Given the description of an element on the screen output the (x, y) to click on. 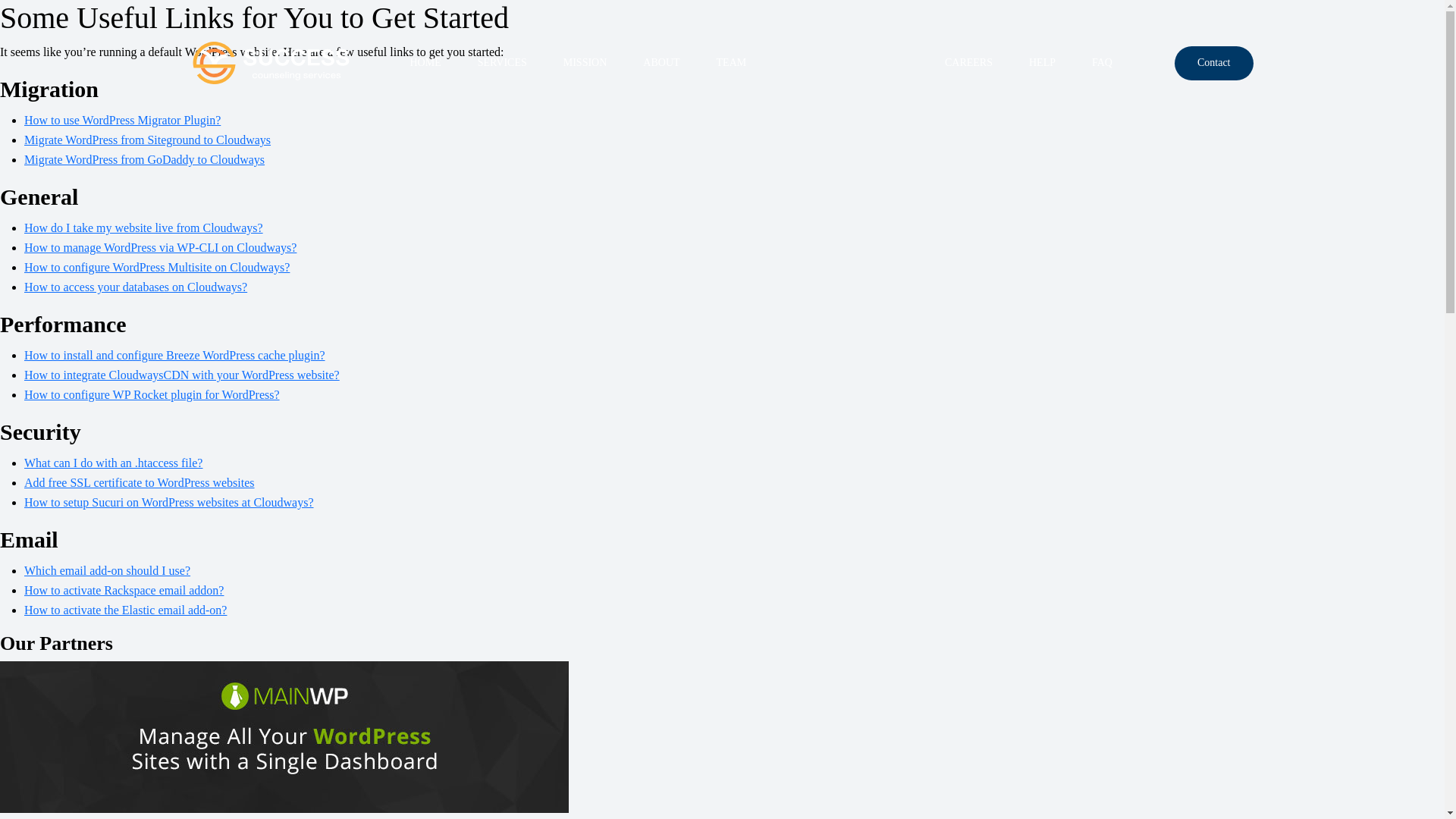
How to integrate CloudwaysCDN with your WordPress website? (181, 374)
TEAM (731, 62)
Which email add-on should I use? (107, 570)
Contact (1213, 62)
Add free SSL certificate to WordPress websites (139, 481)
How to manage WordPress via WP-CLI on Cloudways? (160, 246)
ABOUT (660, 62)
What can I do with an .htaccess file? (113, 462)
How to install and configure Breeze WordPress cache plugin? (174, 354)
Migrate WordPress from Siteground to Cloudways (147, 139)
SERVICES (502, 62)
How to setup Sucuri on WordPress websites at Cloudways? (169, 502)
How to activate the Elastic email add-on? (125, 609)
How to use WordPress Migrator Plugin? (122, 119)
FAQ (1102, 62)
